Given the description of an element on the screen output the (x, y) to click on. 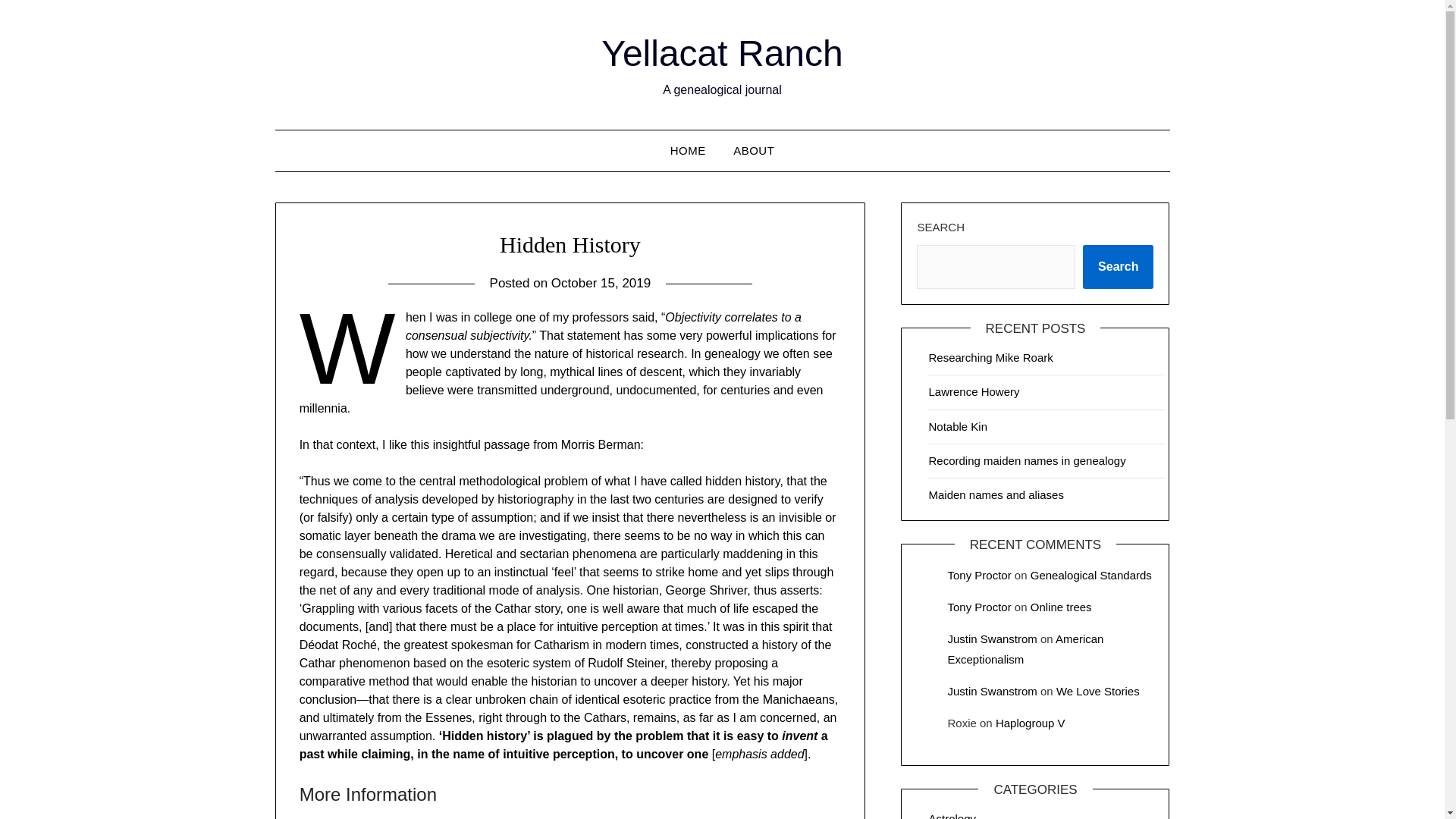
Lawrence Howery (973, 391)
Recording maiden names in genealogy (1026, 460)
We Love Stories (1098, 690)
Justin Swanstrom (991, 690)
Researching Mike Roark (990, 357)
Haplogroup V (1030, 722)
ABOUT (753, 150)
HOME (687, 150)
Tony Proctor (978, 606)
Online trees (1061, 606)
